Given the description of an element on the screen output the (x, y) to click on. 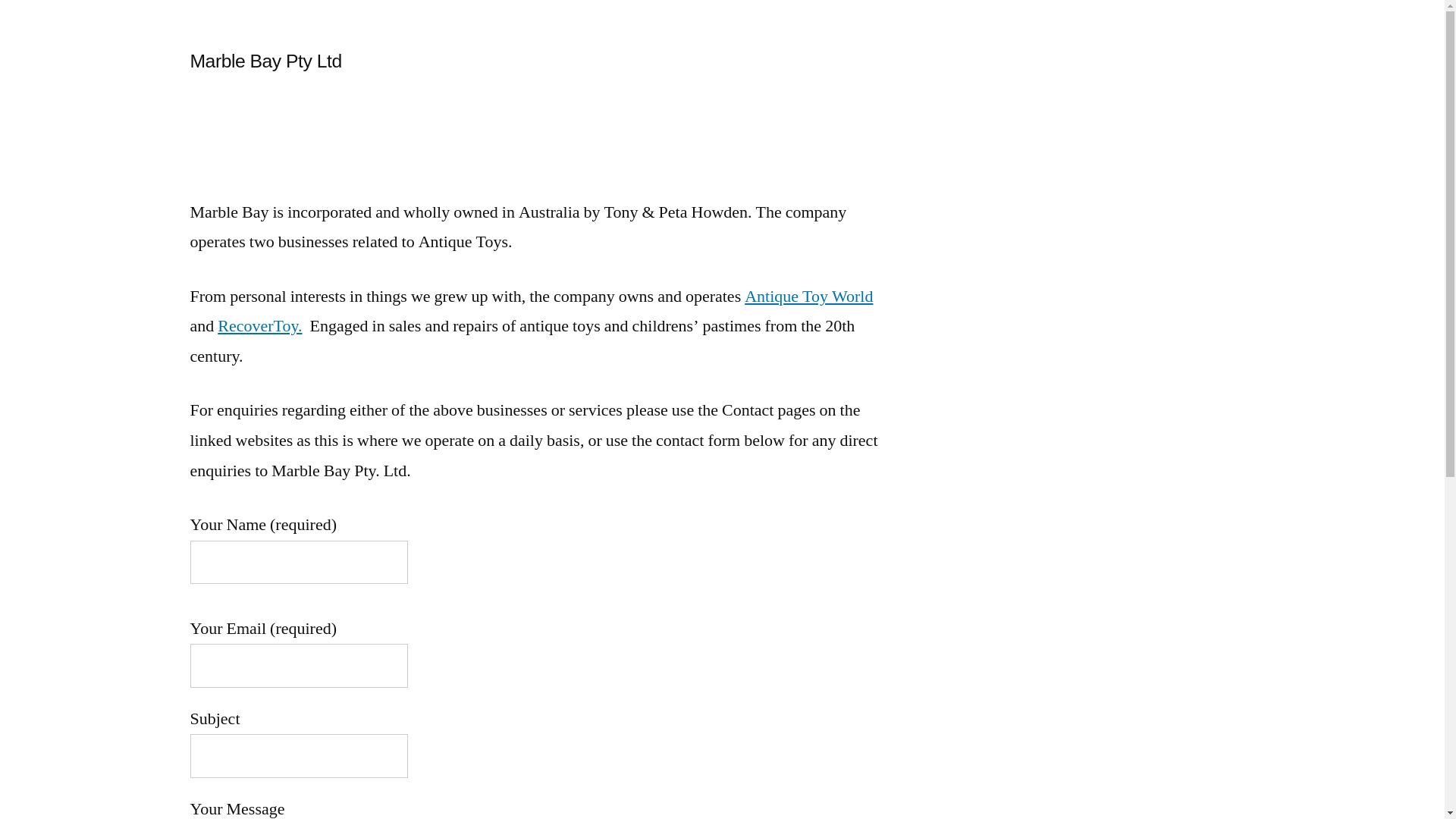
RecoverToy. Element type: text (259, 325)
Marble Bay Pty Ltd Element type: text (265, 60)
Antique Toy World Element type: text (808, 296)
